Given the description of an element on the screen output the (x, y) to click on. 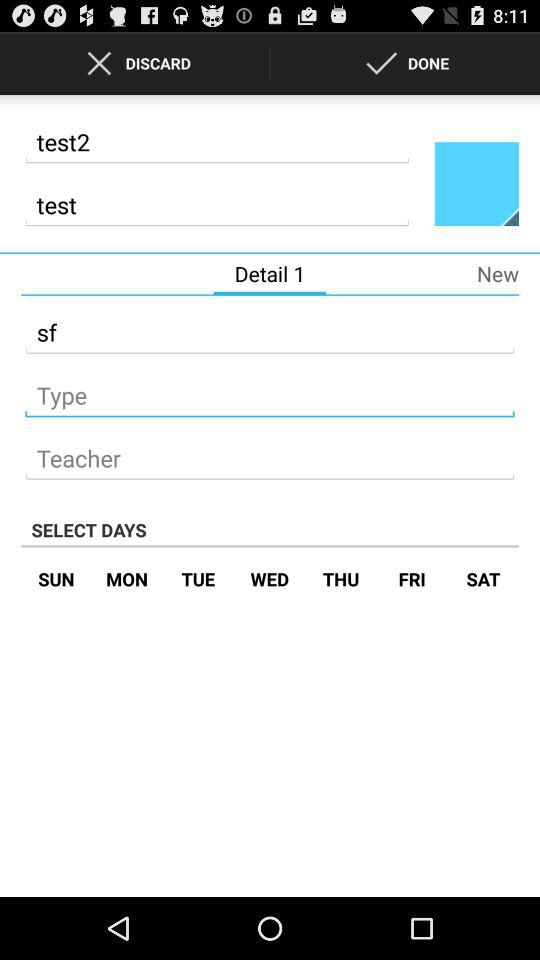
teacher (270, 452)
